Given the description of an element on the screen output the (x, y) to click on. 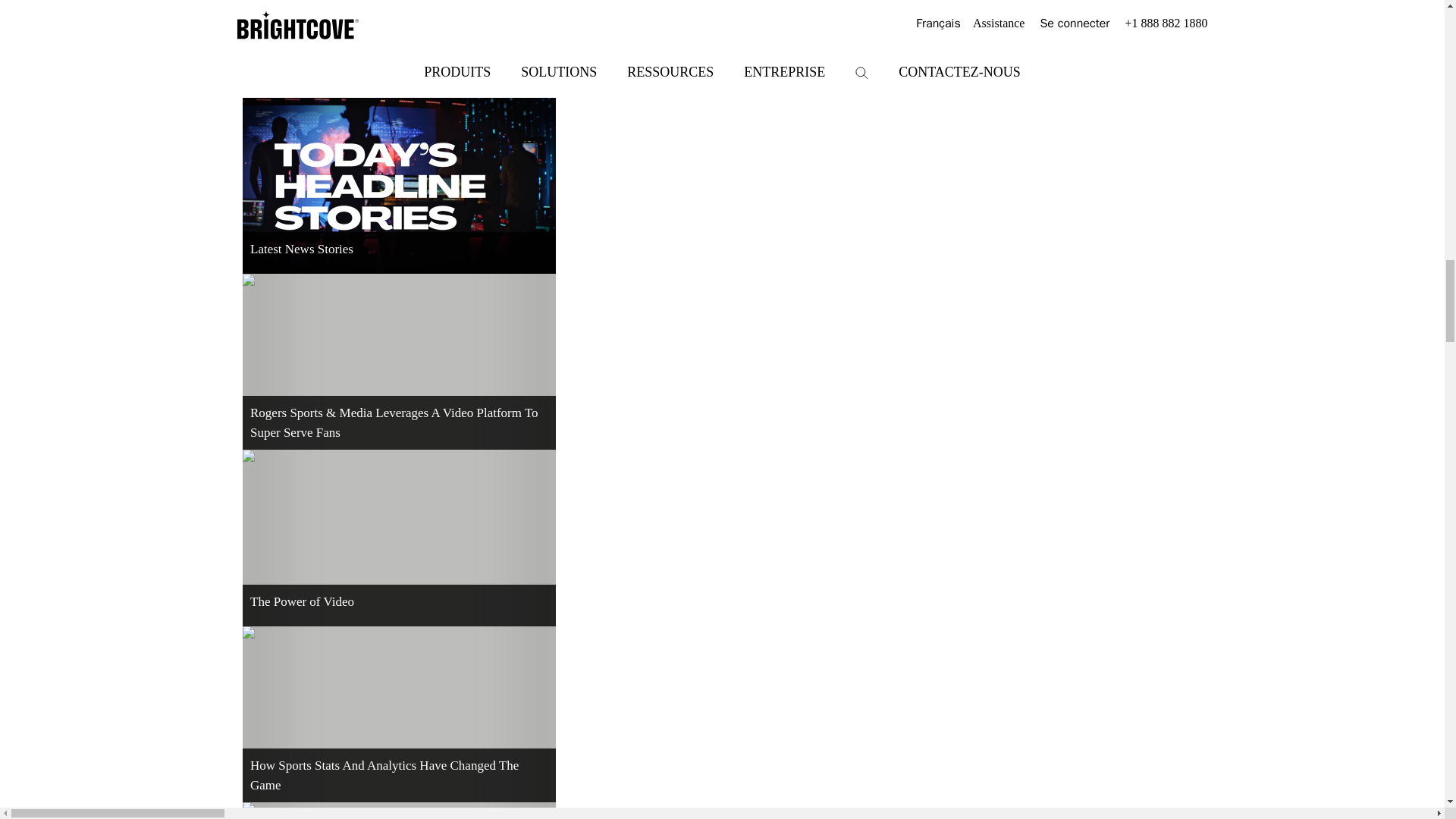
The Power of Video (399, 537)
Latest News Stories (399, 184)
How Sports Stats And Analytics Have Changed The Game (399, 714)
Why women are the answer to sports equity (399, 810)
Trending In Sports (399, 48)
